Given the description of an element on the screen output the (x, y) to click on. 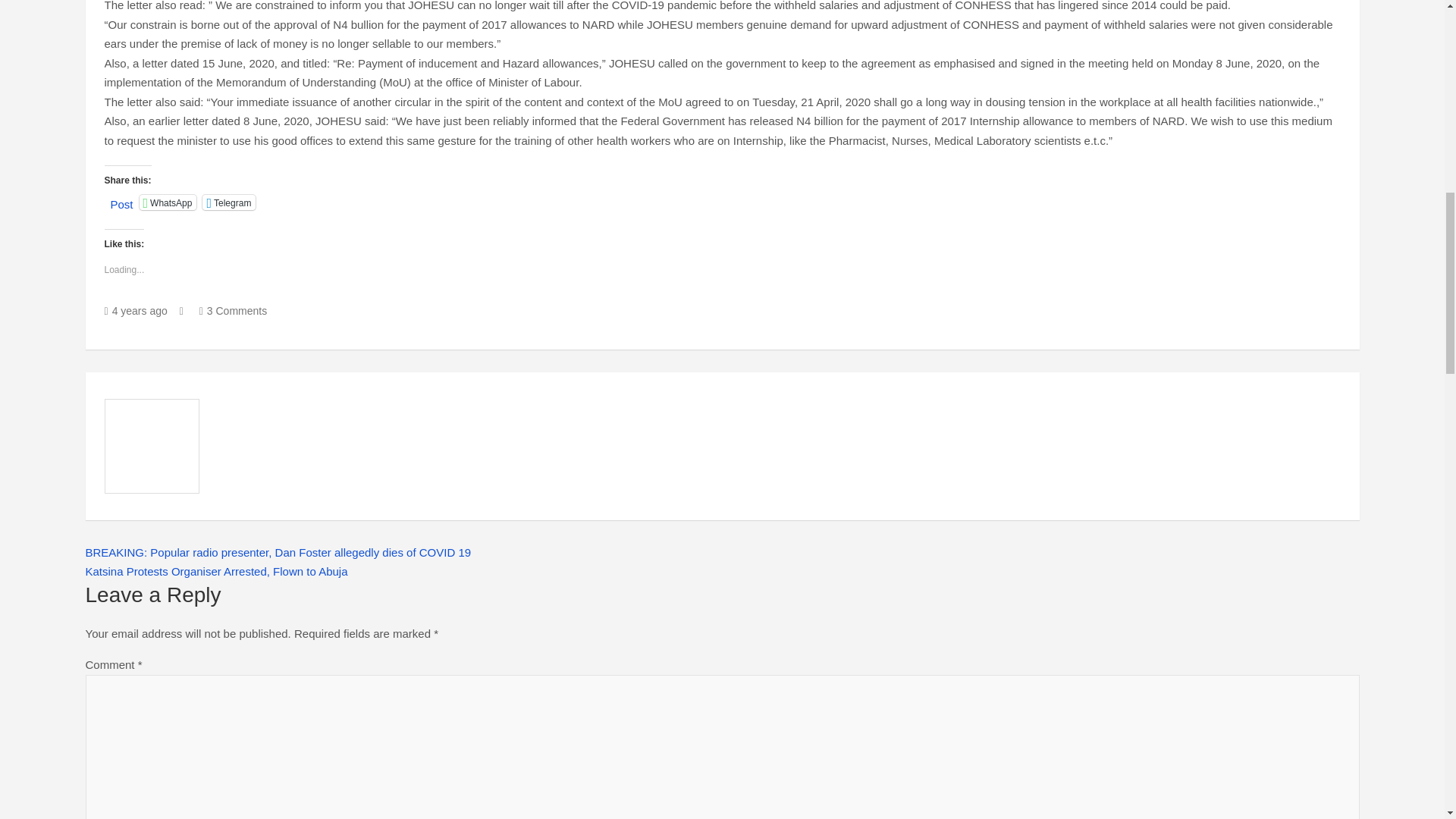
Click to share on WhatsApp (167, 201)
Click to share on Telegram (229, 201)
